Given the description of an element on the screen output the (x, y) to click on. 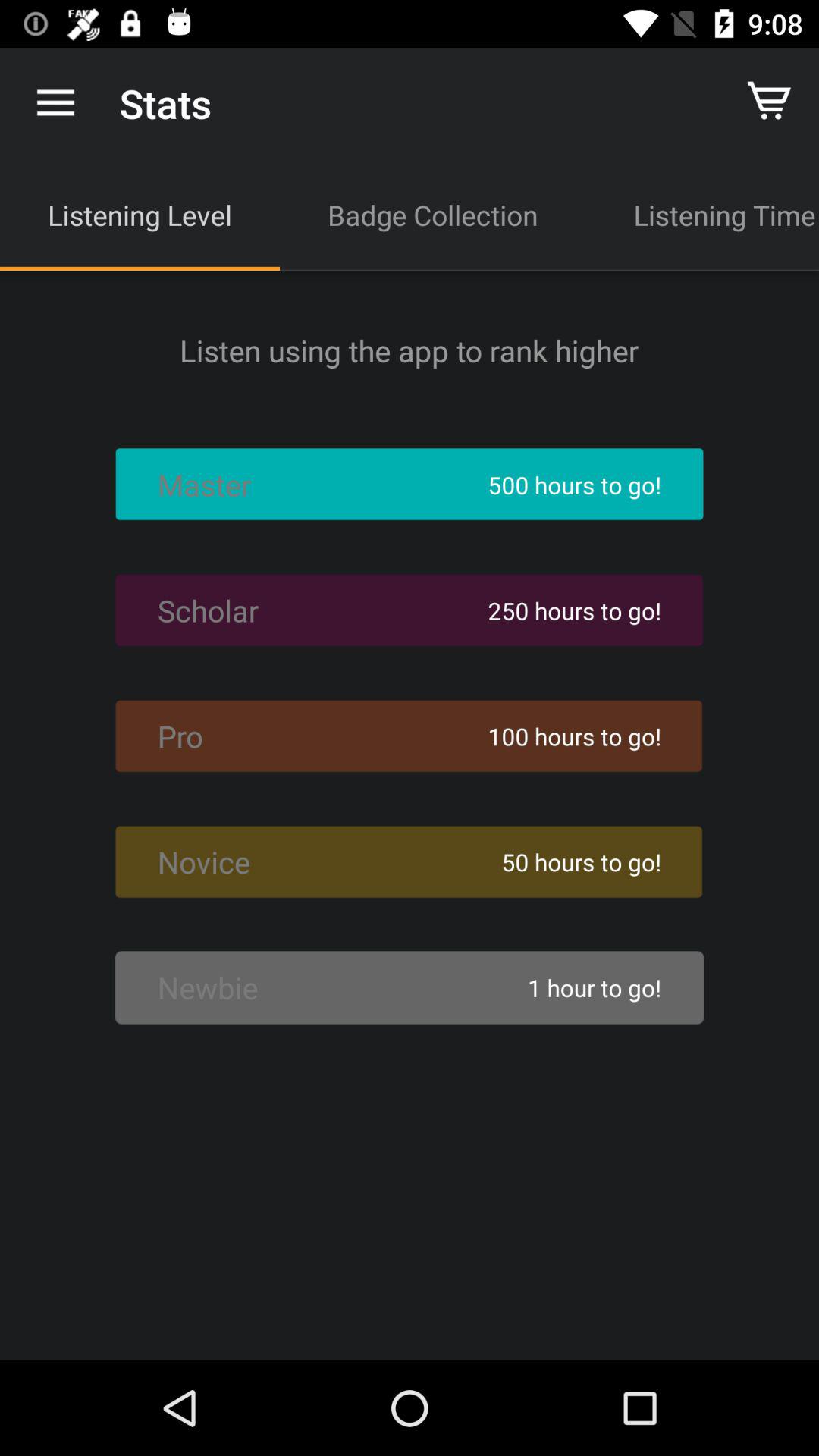
open the icon to the right of badge collection (702, 214)
